Given the description of an element on the screen output the (x, y) to click on. 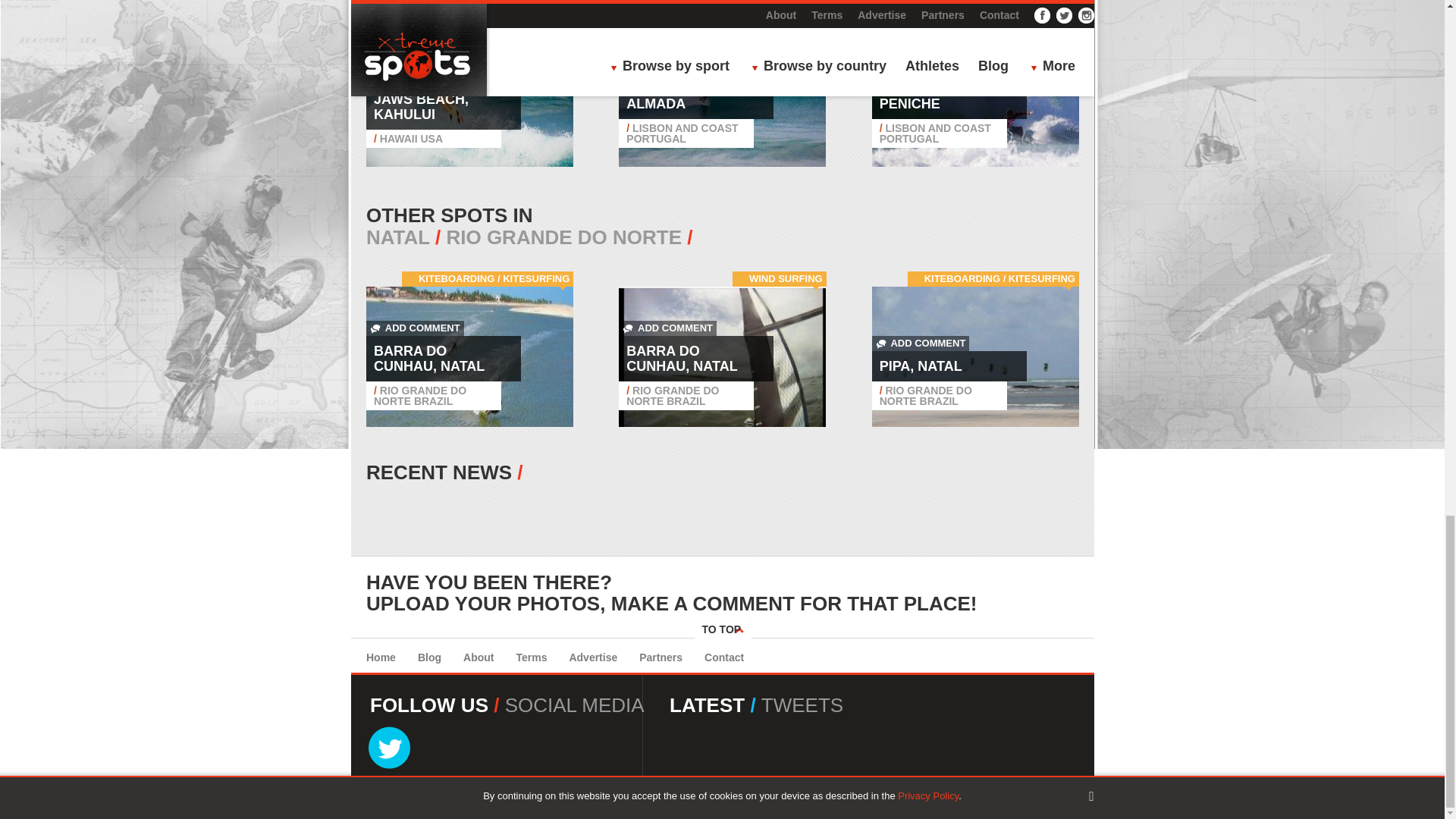
SURFING (547, 16)
JAWS BEACH, KAHULUI (421, 106)
  ADD COMMENT (415, 75)
